Given the description of an element on the screen output the (x, y) to click on. 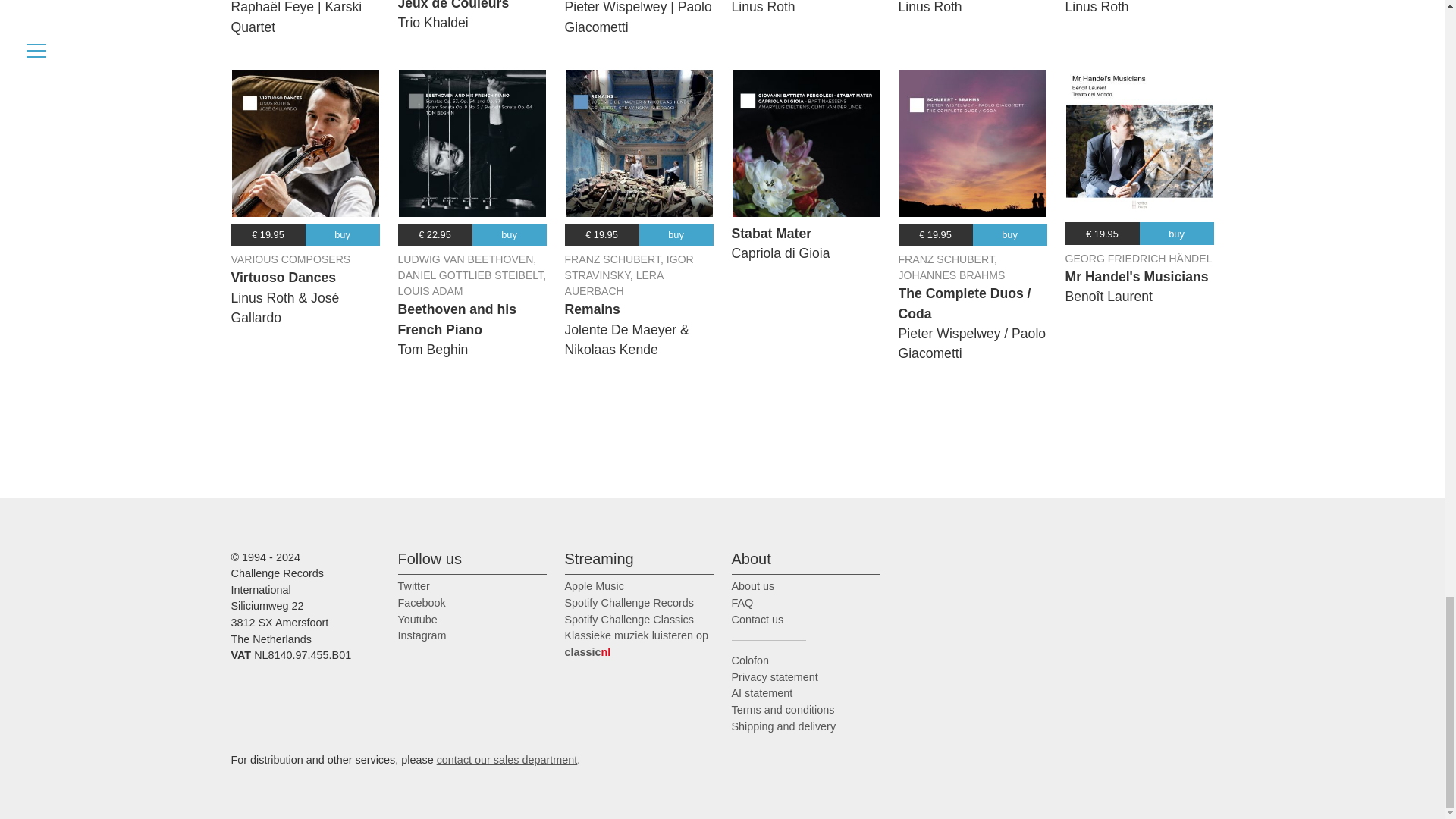
Stabat Mater - Capriola di Gioia (805, 143)
Beethoven and his French Piano - Tom Beghin (472, 143)
